Given the description of an element on the screen output the (x, y) to click on. 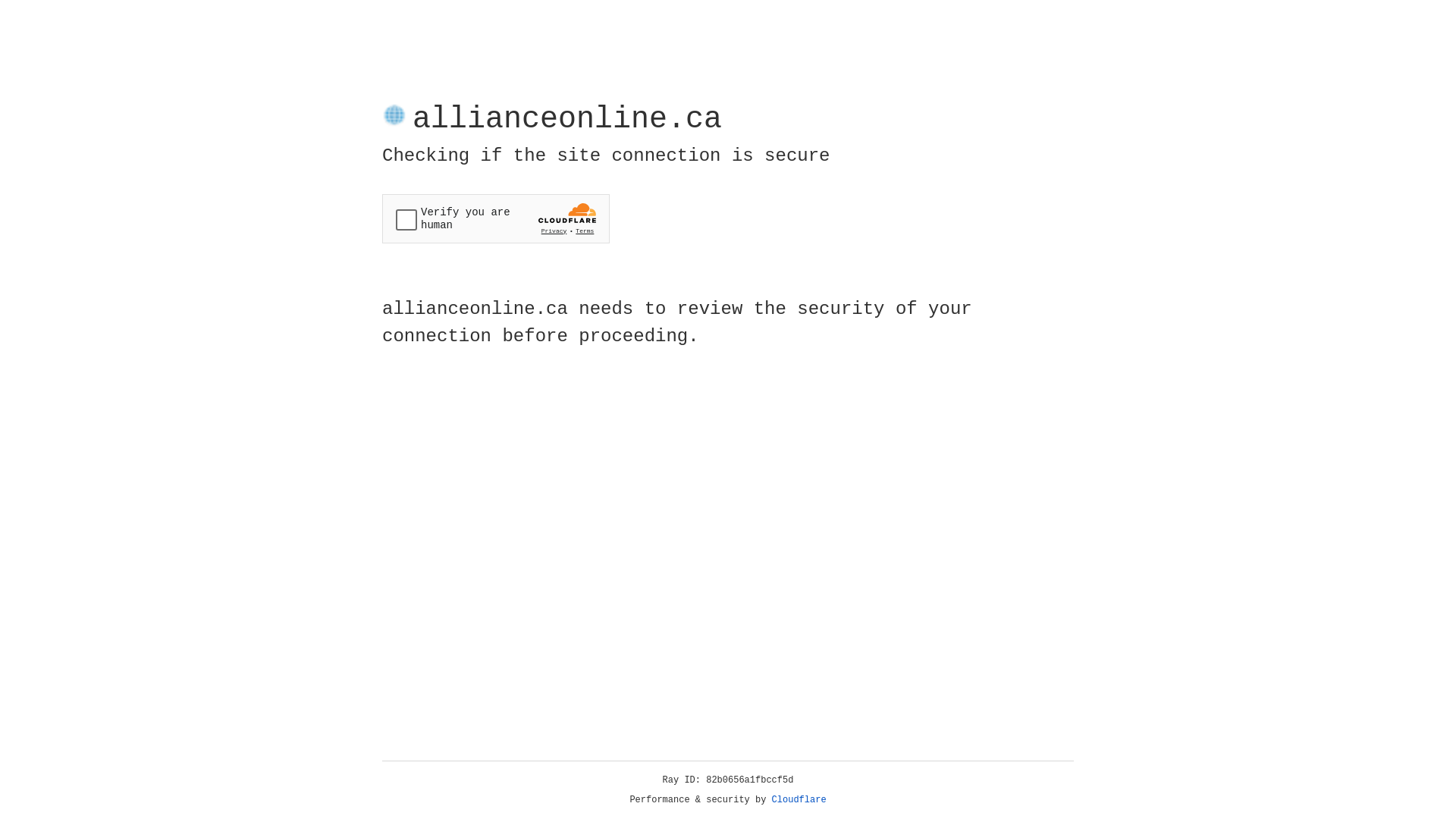
Widget containing a Cloudflare security challenge Element type: hover (495, 218)
Cloudflare Element type: text (798, 799)
